Given the description of an element on the screen output the (x, y) to click on. 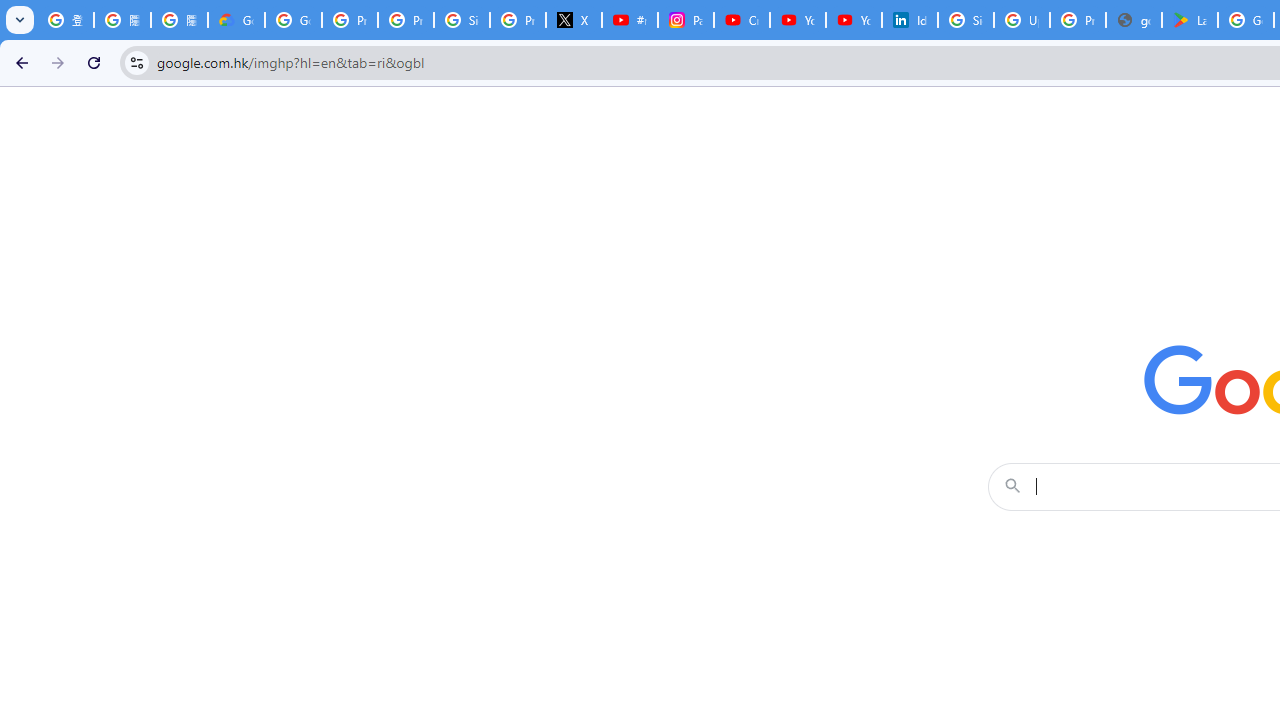
X (573, 20)
Sign in - Google Accounts (461, 20)
Privacy Help Center - Policies Help (405, 20)
Google Cloud Privacy Notice (235, 20)
